Given the description of an element on the screen output the (x, y) to click on. 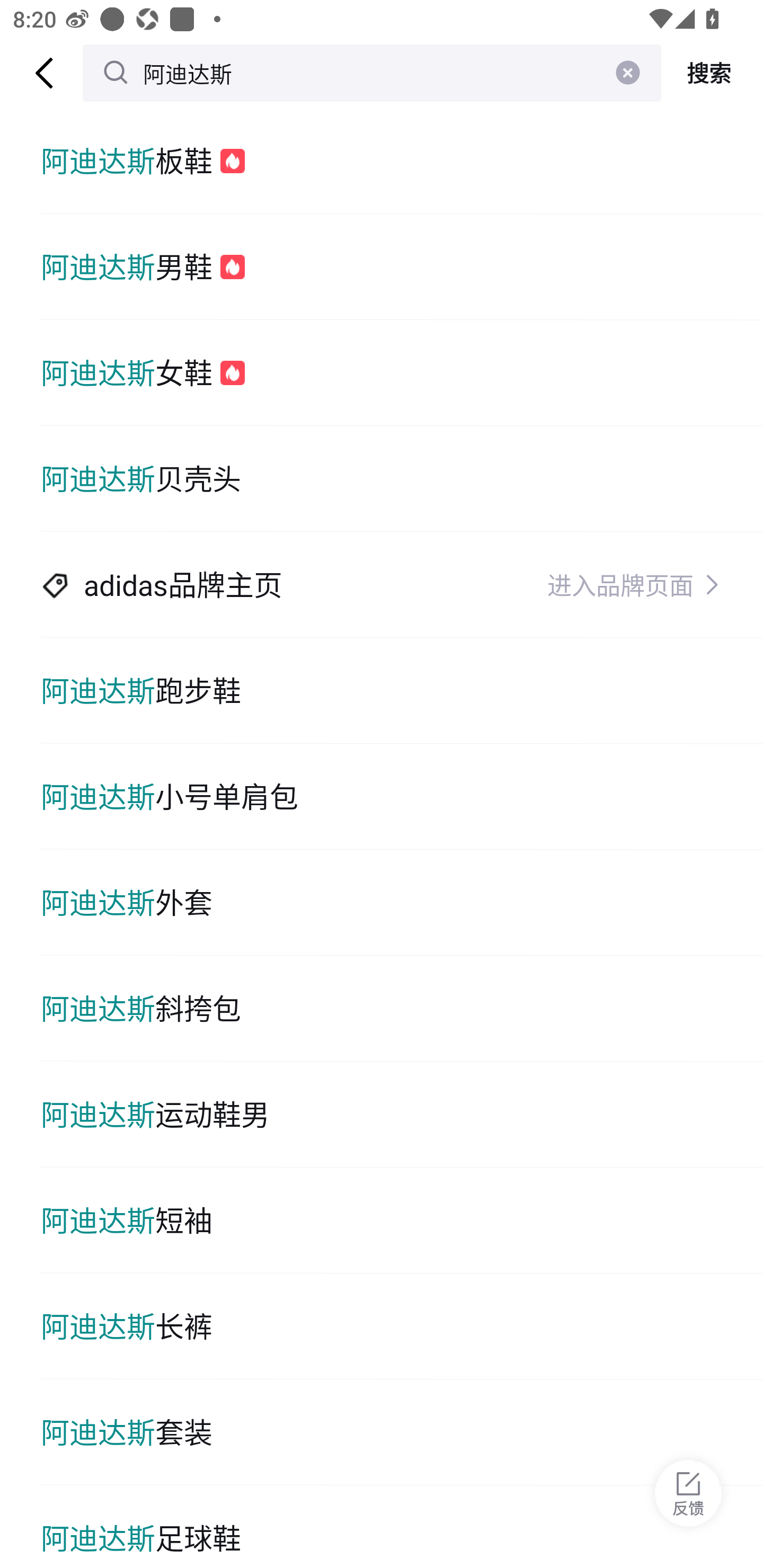
搜索 (712, 72)
阿迪达斯 (371, 72)
阿迪达斯板鞋 (401, 160)
阿迪达斯男鞋 (401, 266)
阿迪达斯女鞋 (401, 372)
阿迪达斯贝壳头 (401, 478)
adidas品牌主页 进入品牌页面  (401, 584)
阿迪达斯跑步鞋 (401, 690)
阿迪达斯小号单肩包 (401, 796)
阿迪达斯外套 (401, 901)
阿迪达斯斜挎包 (401, 1007)
阿迪达斯运动鞋男 (401, 1114)
阿迪达斯短袖 (401, 1220)
阿迪达斯长裤 (401, 1326)
阿迪达斯套装 (401, 1431)
阿迪达斯足球鞋 (401, 1526)
